Given the description of an element on the screen output the (x, y) to click on. 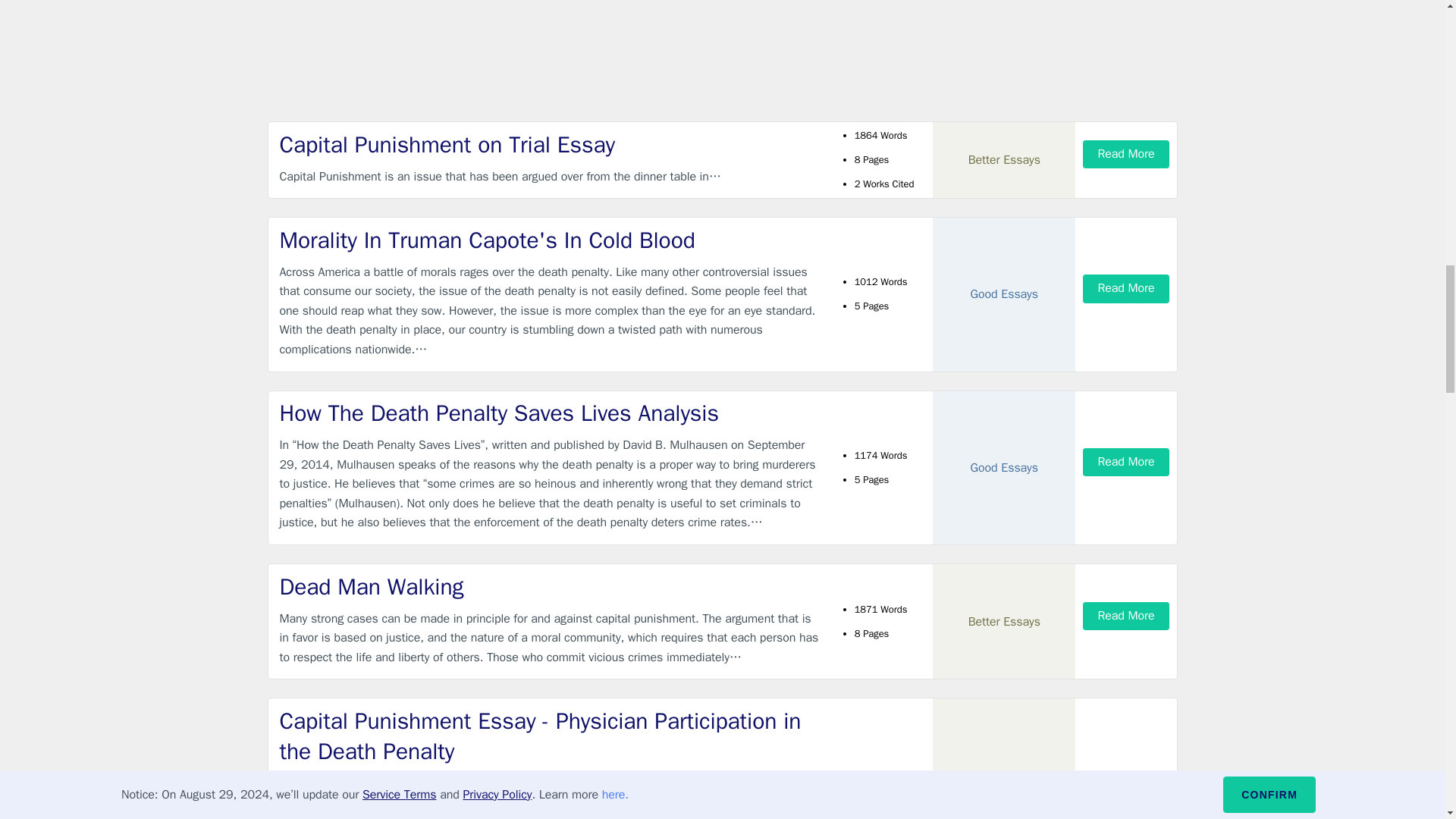
Read More (1126, 461)
Dead Man Walking (548, 586)
Read More (1126, 154)
Read More (1126, 804)
How The Death Penalty Saves Lives Analysis (548, 413)
Morality In Truman Capote's In Cold Blood (548, 240)
Capital Punishment on Trial Essay (548, 144)
Read More (1126, 288)
Read More (1126, 615)
